Given the description of an element on the screen output the (x, y) to click on. 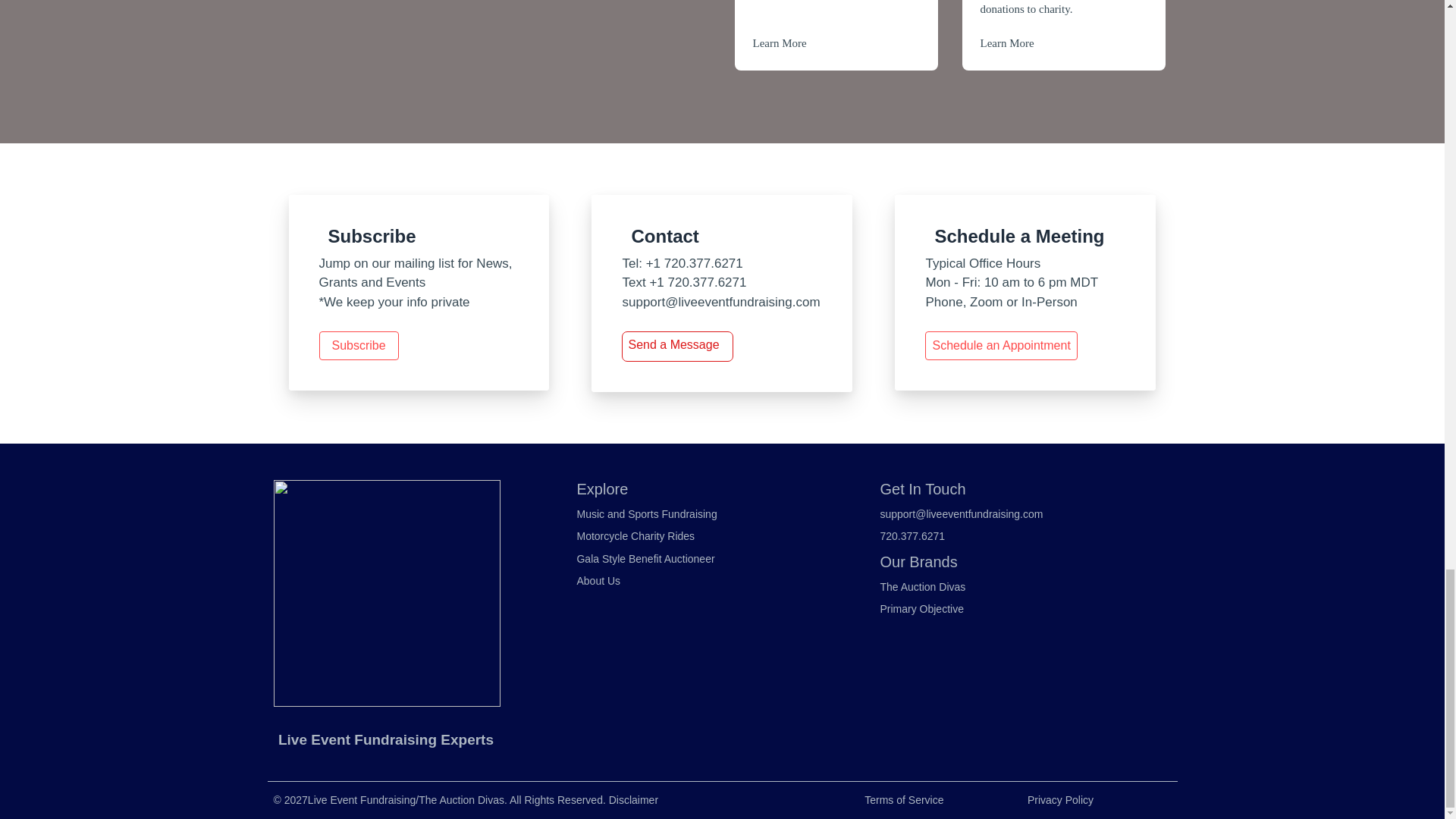
Primary Objective (920, 609)
720.377.6271 (911, 536)
Send a Message (673, 344)
Terms of Service (903, 800)
Gala Style Benefit Auctioneer (645, 559)
Subscribe (357, 345)
Privacy Policy (1060, 800)
Schedule an Appointment (1000, 345)
Learn More (779, 42)
Learn More (1006, 42)
About Us (598, 581)
Music and Sports Fundraising (646, 514)
Motorcycle Charity Rides (635, 536)
The Auction Divas (922, 587)
